Given the description of an element on the screen output the (x, y) to click on. 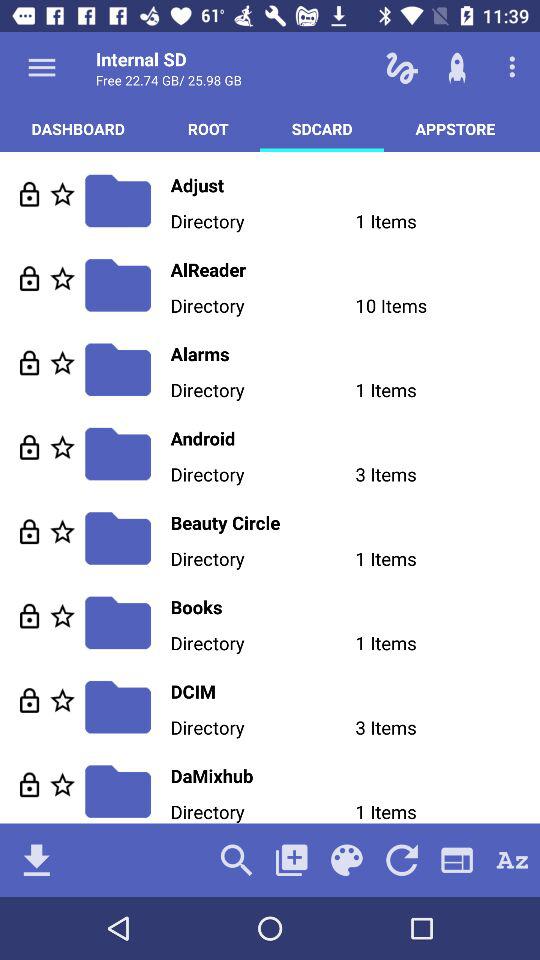
loads file info (29, 784)
